Given the description of an element on the screen output the (x, y) to click on. 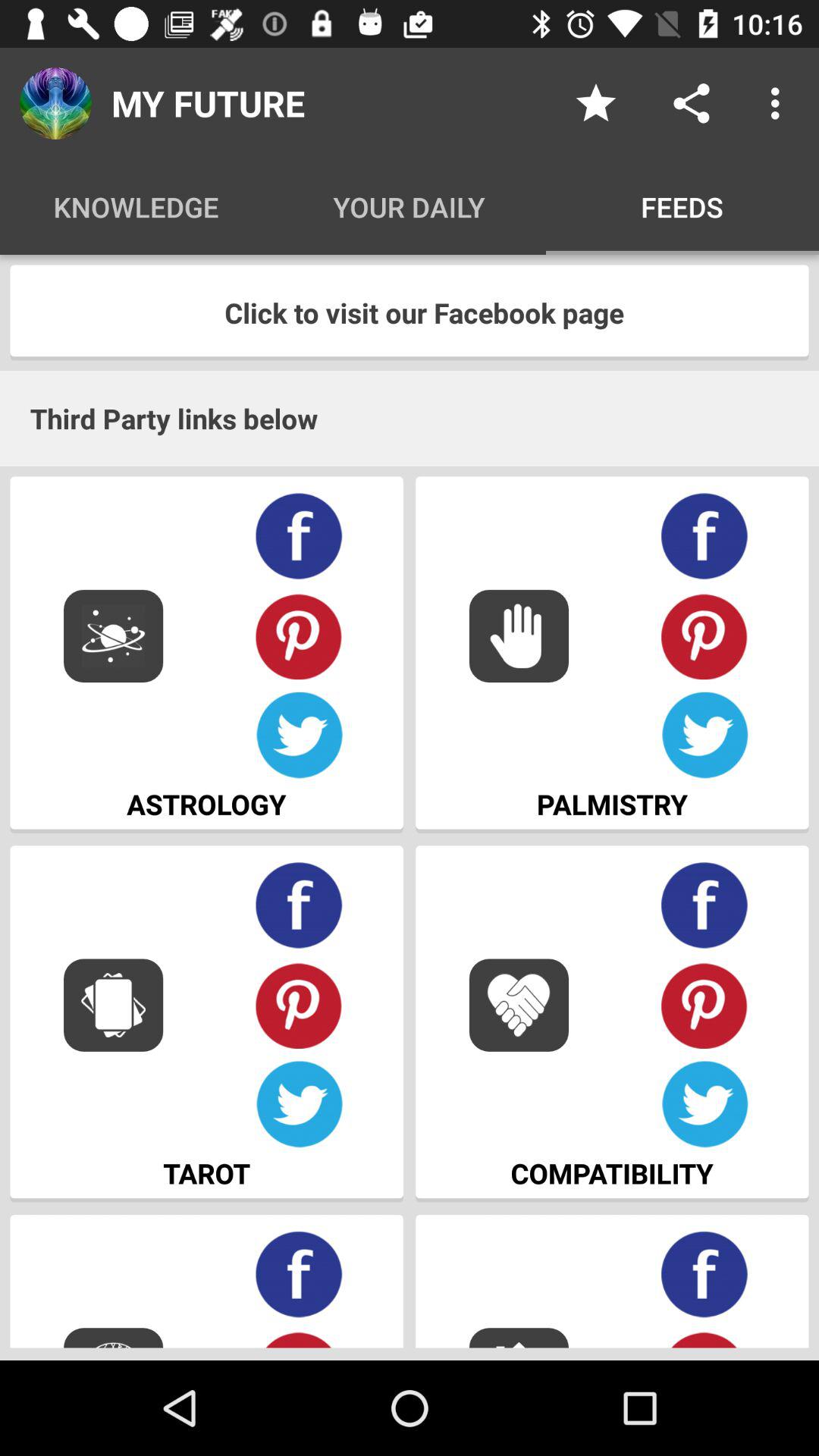
facebook (299, 905)
